Given the description of an element on the screen output the (x, y) to click on. 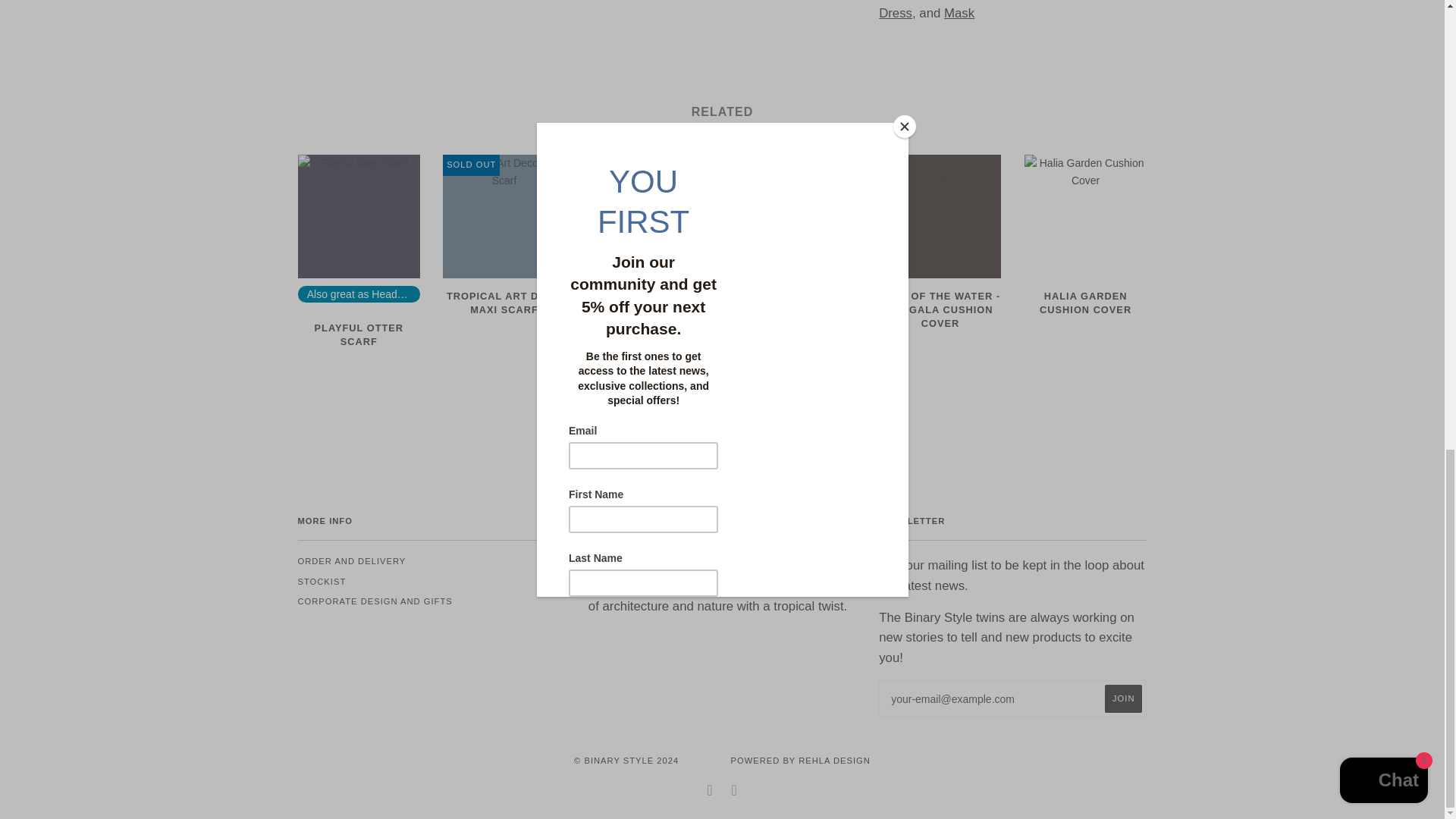
Join (1123, 698)
